Given the description of an element on the screen output the (x, y) to click on. 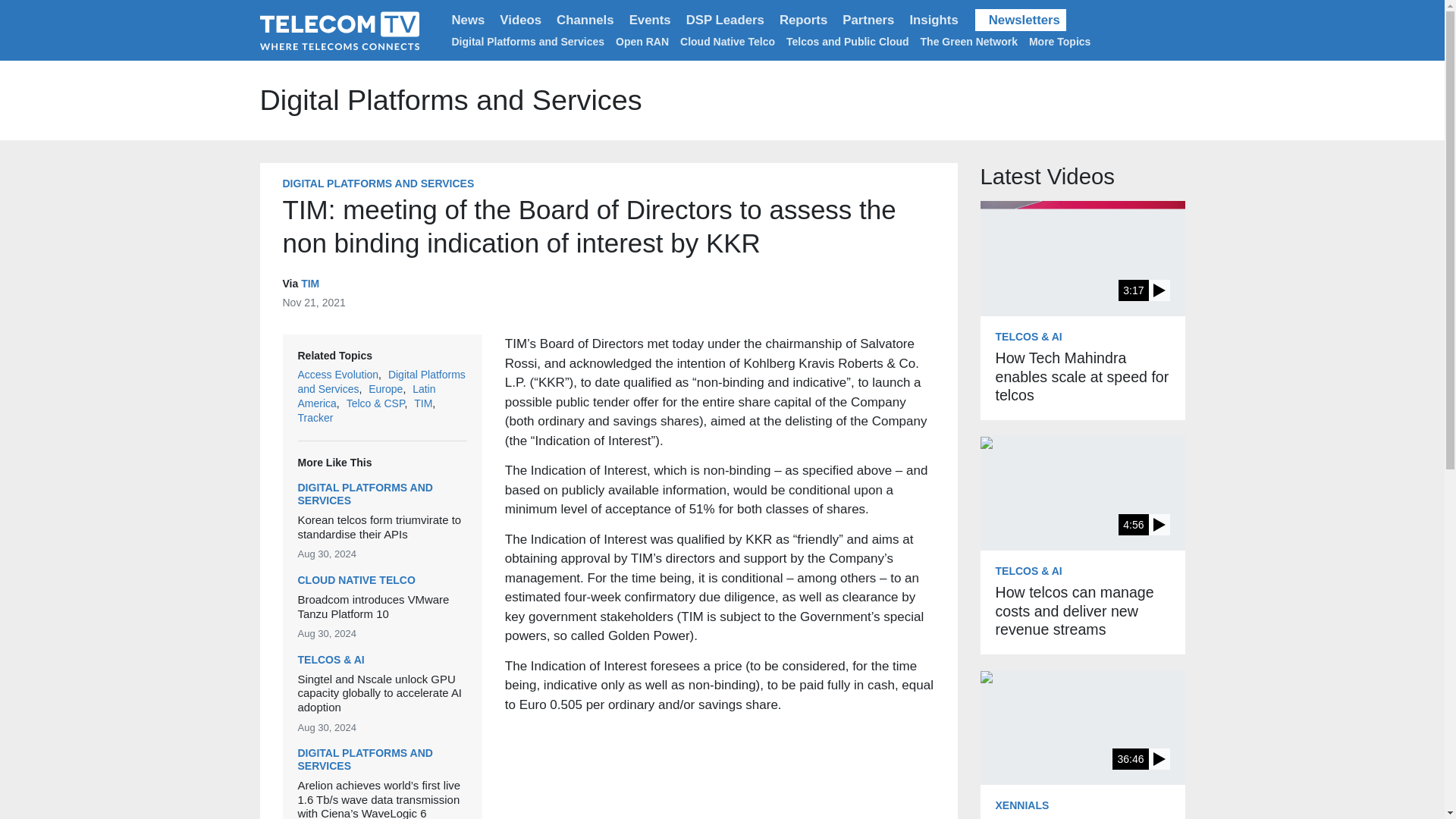
Partners (867, 20)
Newsletters (1020, 20)
News (468, 20)
Events (650, 20)
Digital Platforms and Services (528, 41)
Telcos and Public Cloud (847, 41)
Cloud Native Telco (726, 41)
Insights (932, 20)
More Topics (1062, 41)
Channels (585, 20)
